Given the description of an element on the screen output the (x, y) to click on. 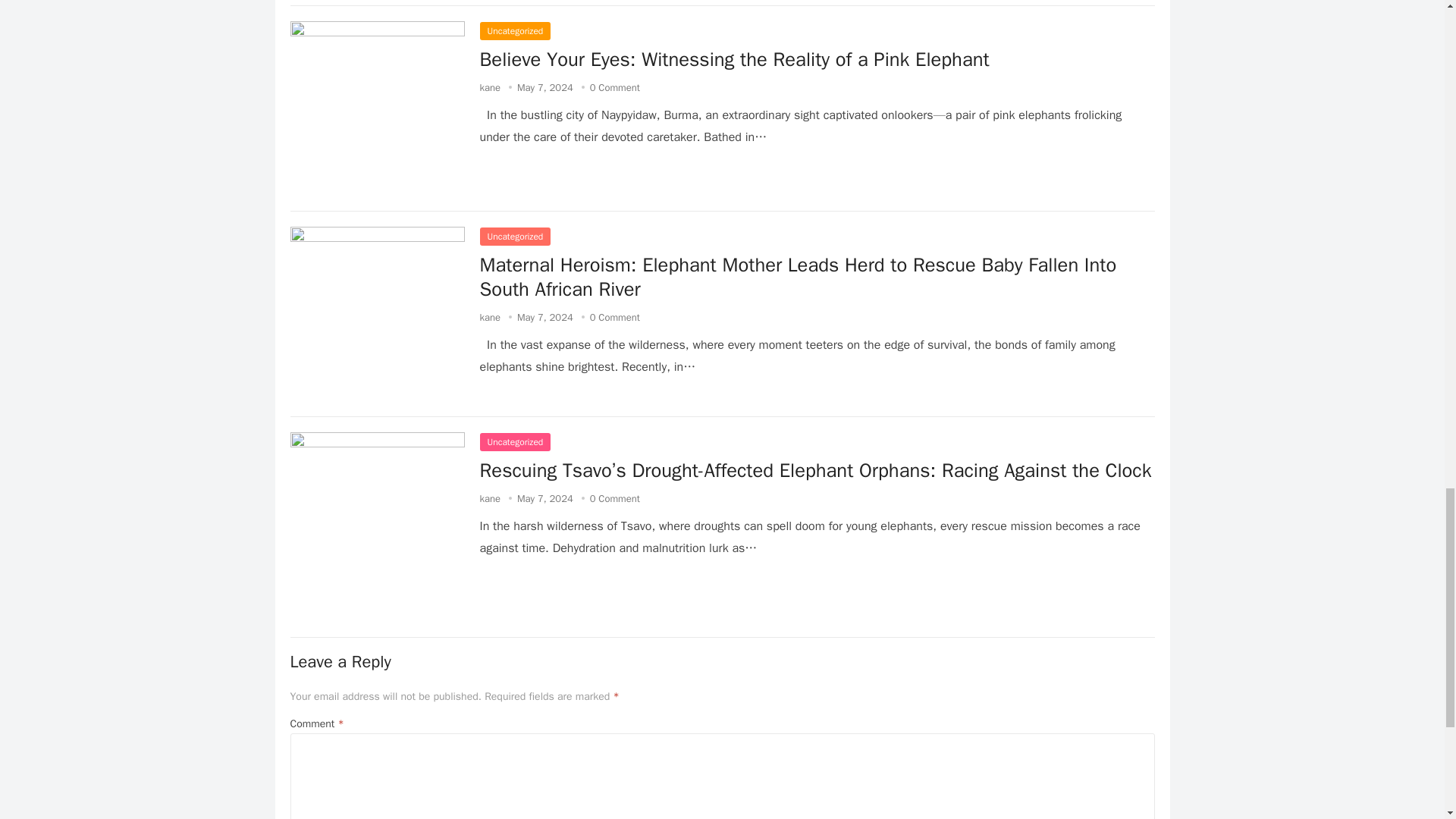
Believe Your Eyes: Witnessing the Reality of a Pink Elephant (733, 59)
Posts by kane (489, 317)
Posts by kane (489, 498)
kane (489, 87)
Uncategorized (514, 31)
0 Comment (614, 87)
Posts by kane (489, 87)
